Given the description of an element on the screen output the (x, y) to click on. 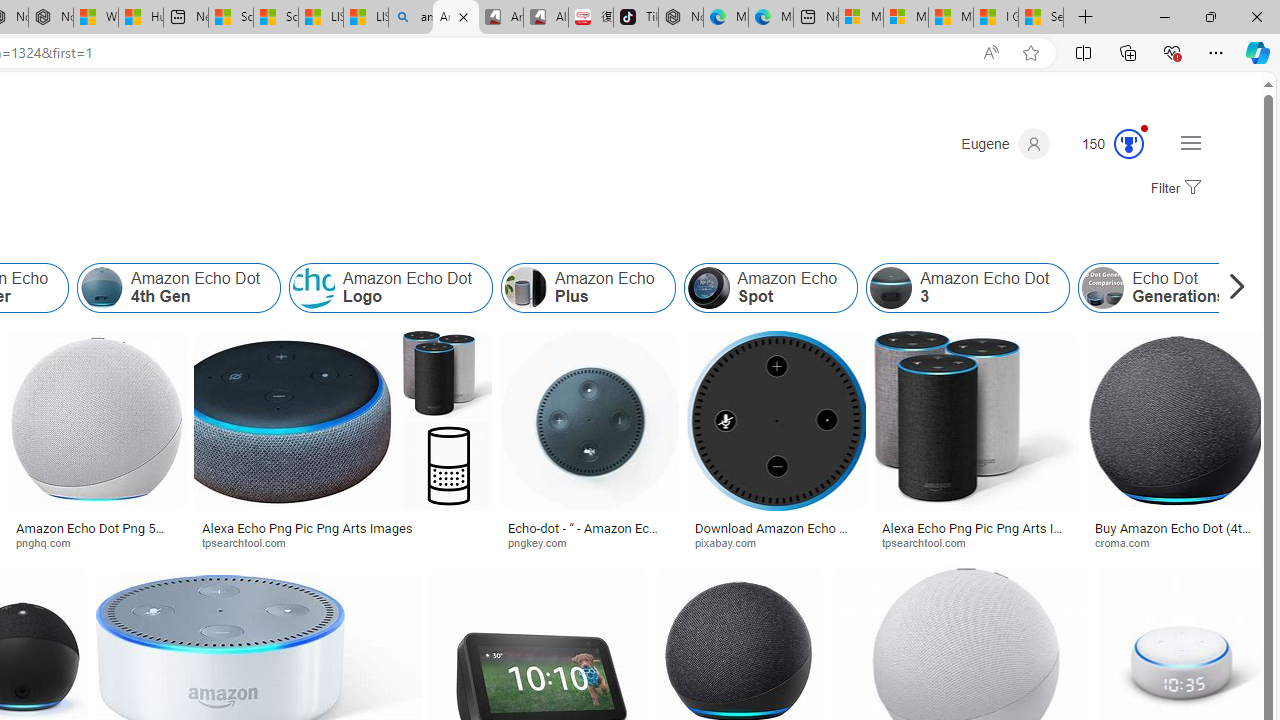
TikTok (635, 17)
Scroll right (1231, 287)
Image result for Amazon Echo Dot PNG (1175, 421)
I Gained 20 Pounds of Muscle in 30 Days! | Watch (995, 17)
Amazon Echo Dot 4th Gen (102, 287)
tpsearchtool.com (930, 541)
Amazon Echo Plus (587, 287)
Amazon Echo Spot (708, 287)
pnghq.com (49, 541)
